Given the description of an element on the screen output the (x, y) to click on. 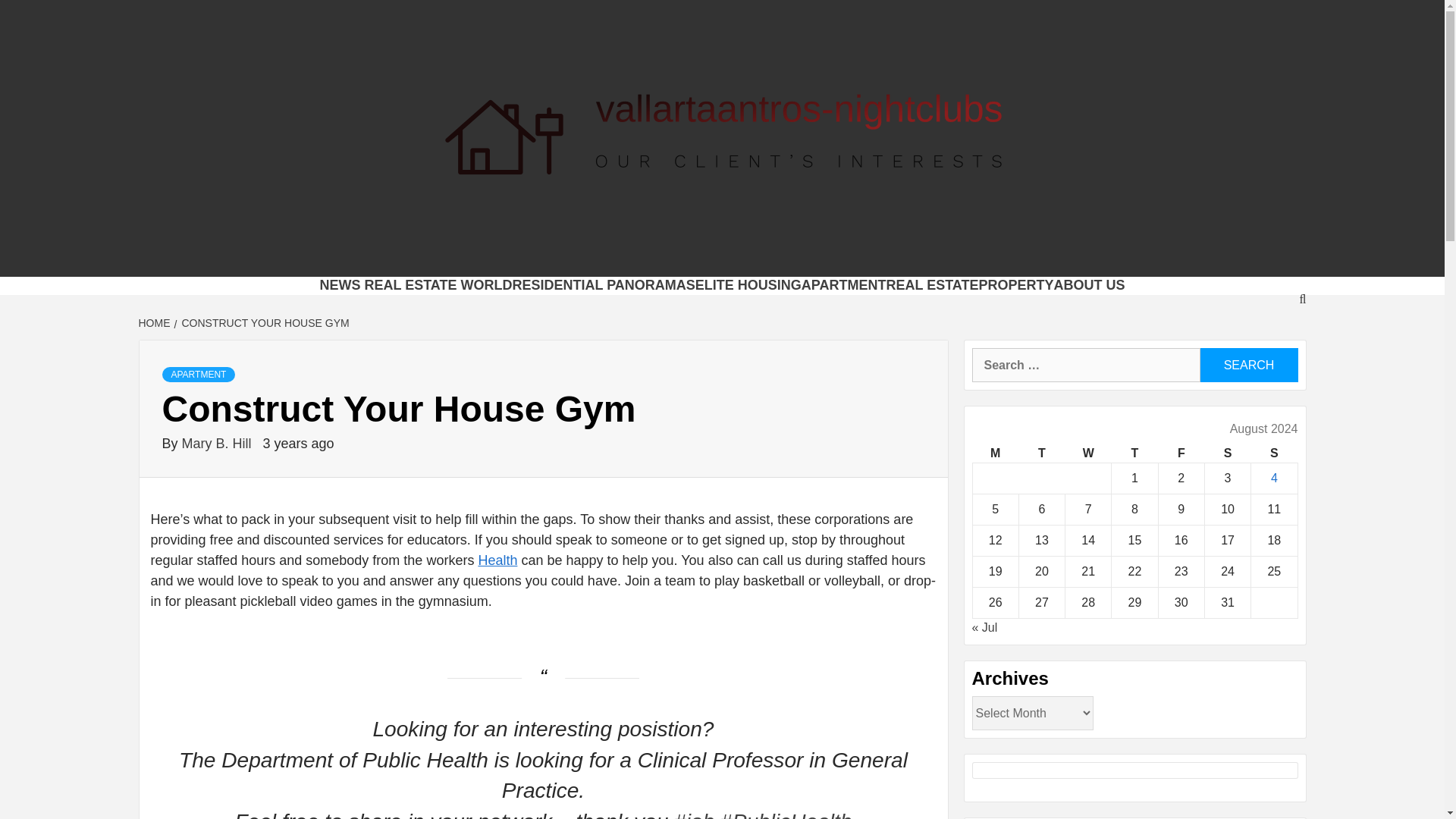
RESIDENTIAL PANORAMAS (603, 284)
Mary B. Hill (219, 443)
Tuesday (1040, 453)
Friday (1180, 453)
Thursday (1134, 453)
REAL ESTATE (931, 284)
APARTMENT (198, 374)
NEWS REAL ESTATE WORLD (415, 284)
Search (1248, 365)
Wednesday (1088, 453)
ABOUT US (1089, 284)
HOME (155, 322)
Health (496, 560)
Saturday (1227, 453)
Sunday (1273, 453)
